Given the description of an element on the screen output the (x, y) to click on. 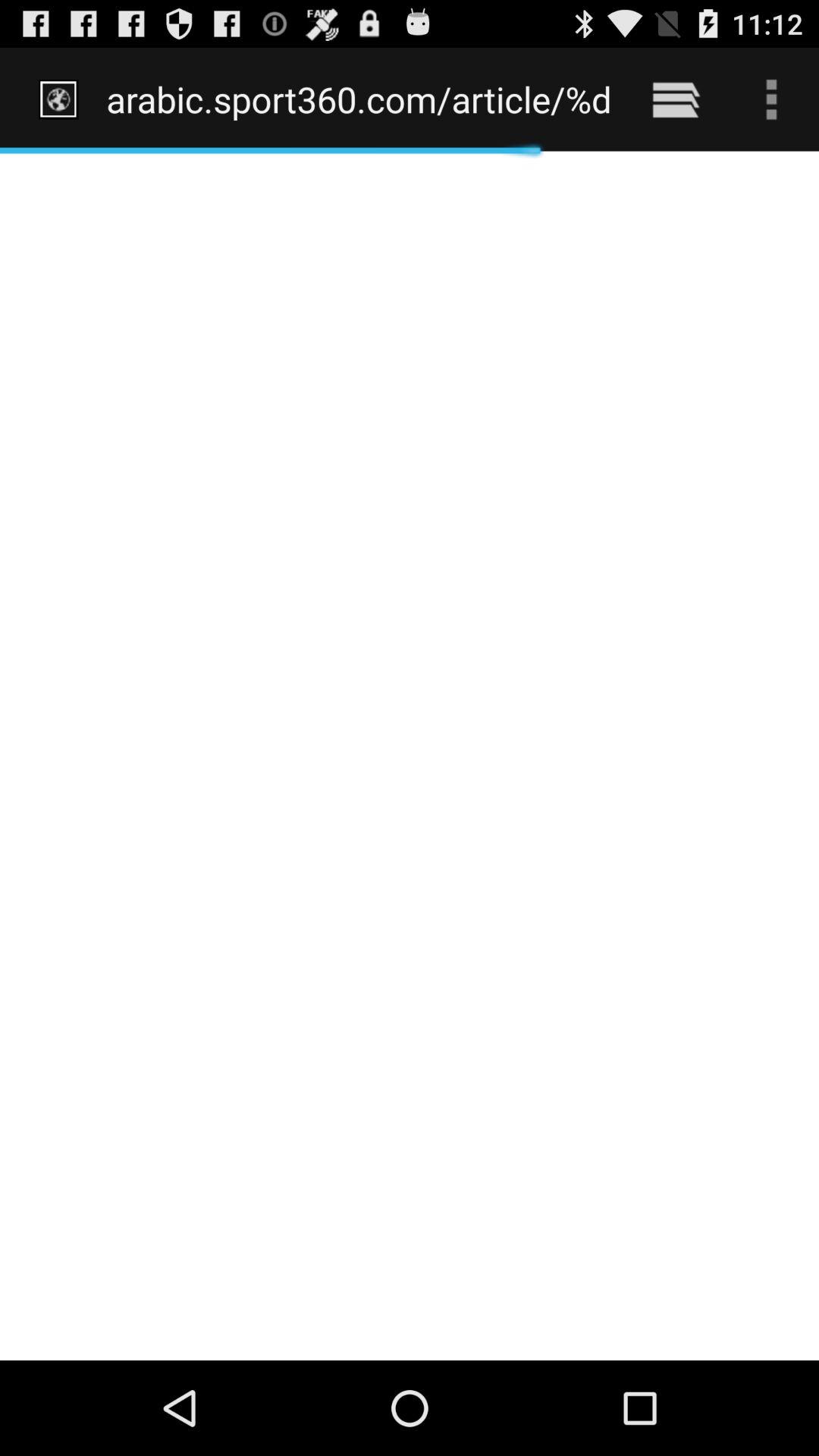
click the arabic sport360 com icon (357, 99)
